Given the description of an element on the screen output the (x, y) to click on. 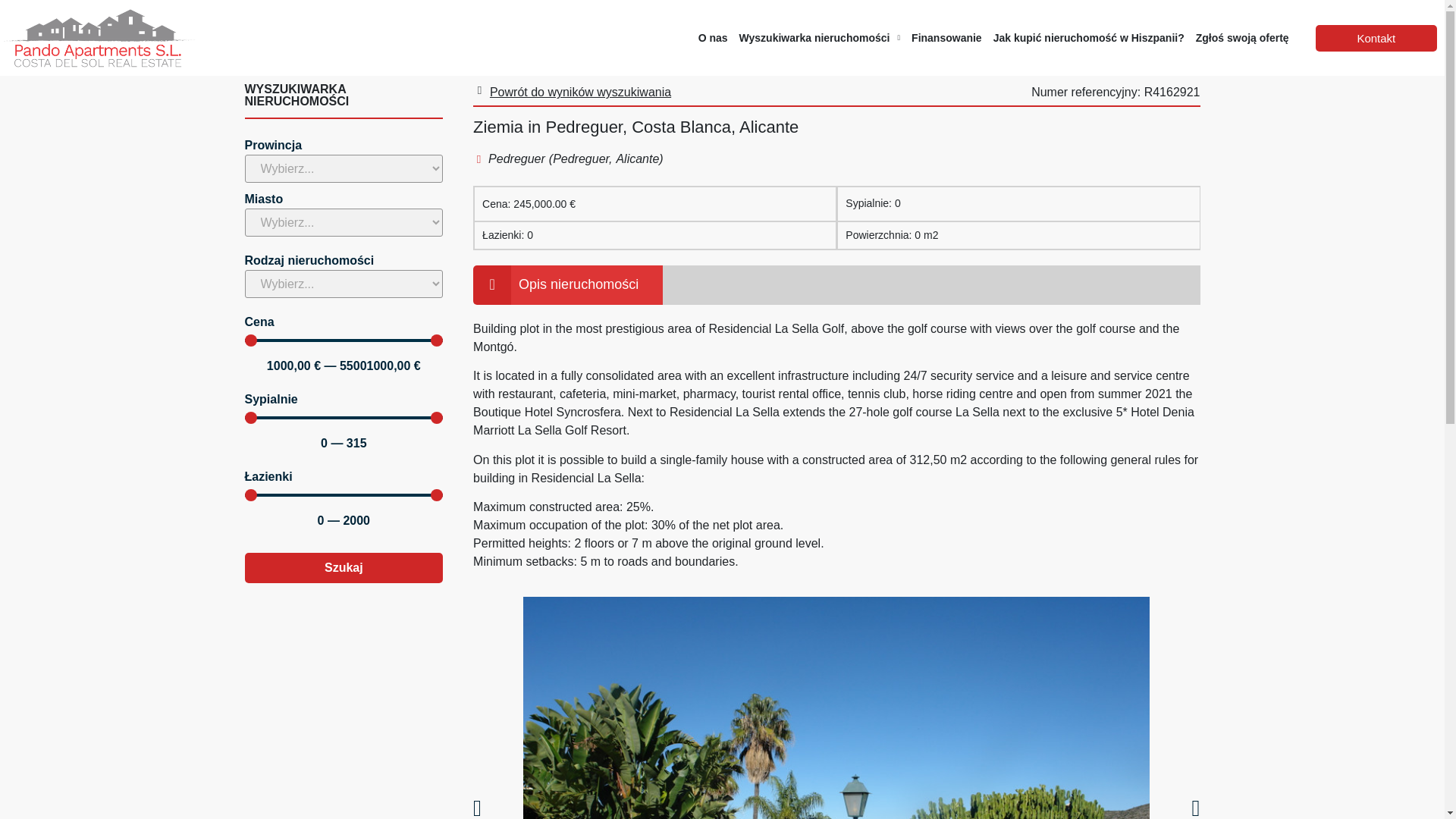
0 (343, 417)
Kontakt (1376, 38)
55001000 (343, 340)
Szukaj (343, 567)
0 (343, 494)
1000 (343, 340)
315 (343, 417)
2000 (343, 494)
Finansowanie (946, 37)
